Given the description of an element on the screen output the (x, y) to click on. 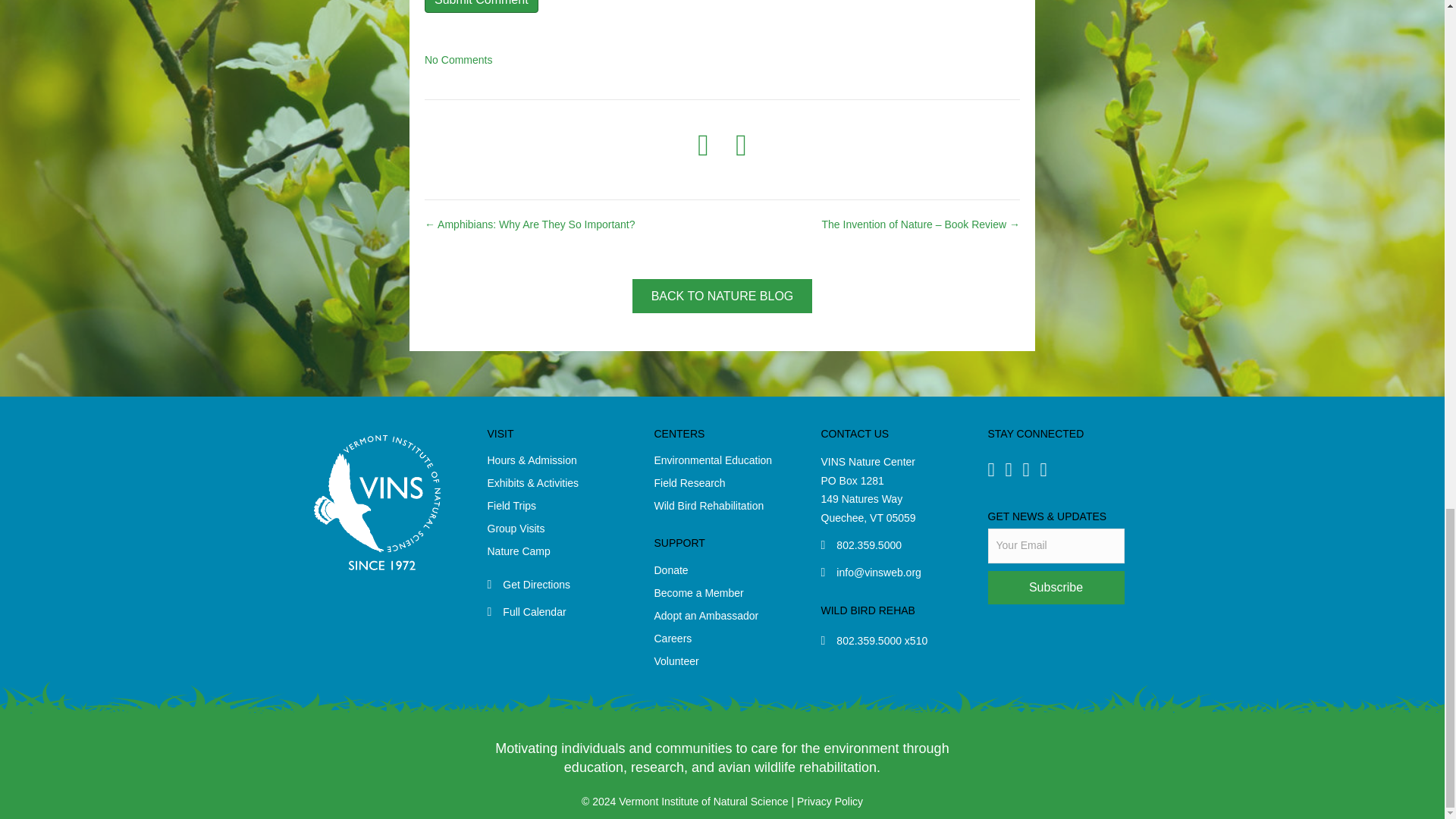
Submit Comment (481, 6)
VINS-Logo-KO-Since-150-1 (376, 502)
Click Here (721, 295)
Click Here (1055, 587)
